Given the description of an element on the screen output the (x, y) to click on. 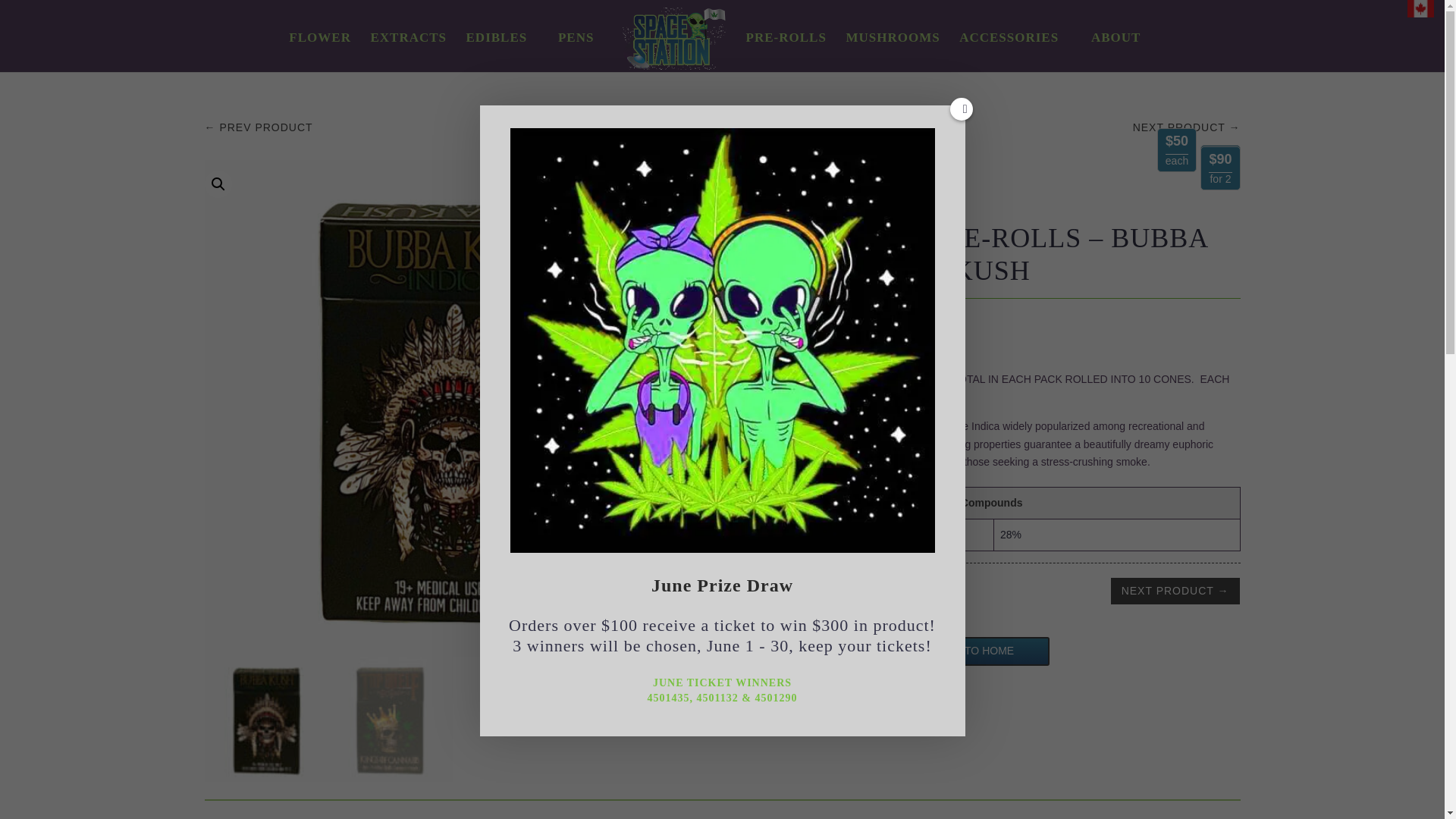
dreamy (1152, 444)
ACCESSORIES (1008, 50)
FLOWER (319, 50)
BACK TO HOME (973, 651)
EDIBLES (496, 50)
ABOUT (1116, 50)
PENS (576, 50)
EXTRACTS (407, 50)
TEXT TO ORDER (818, 651)
PRE-ROLLS (786, 50)
Home (756, 168)
MUSHROOMS (892, 50)
